Given the description of an element on the screen output the (x, y) to click on. 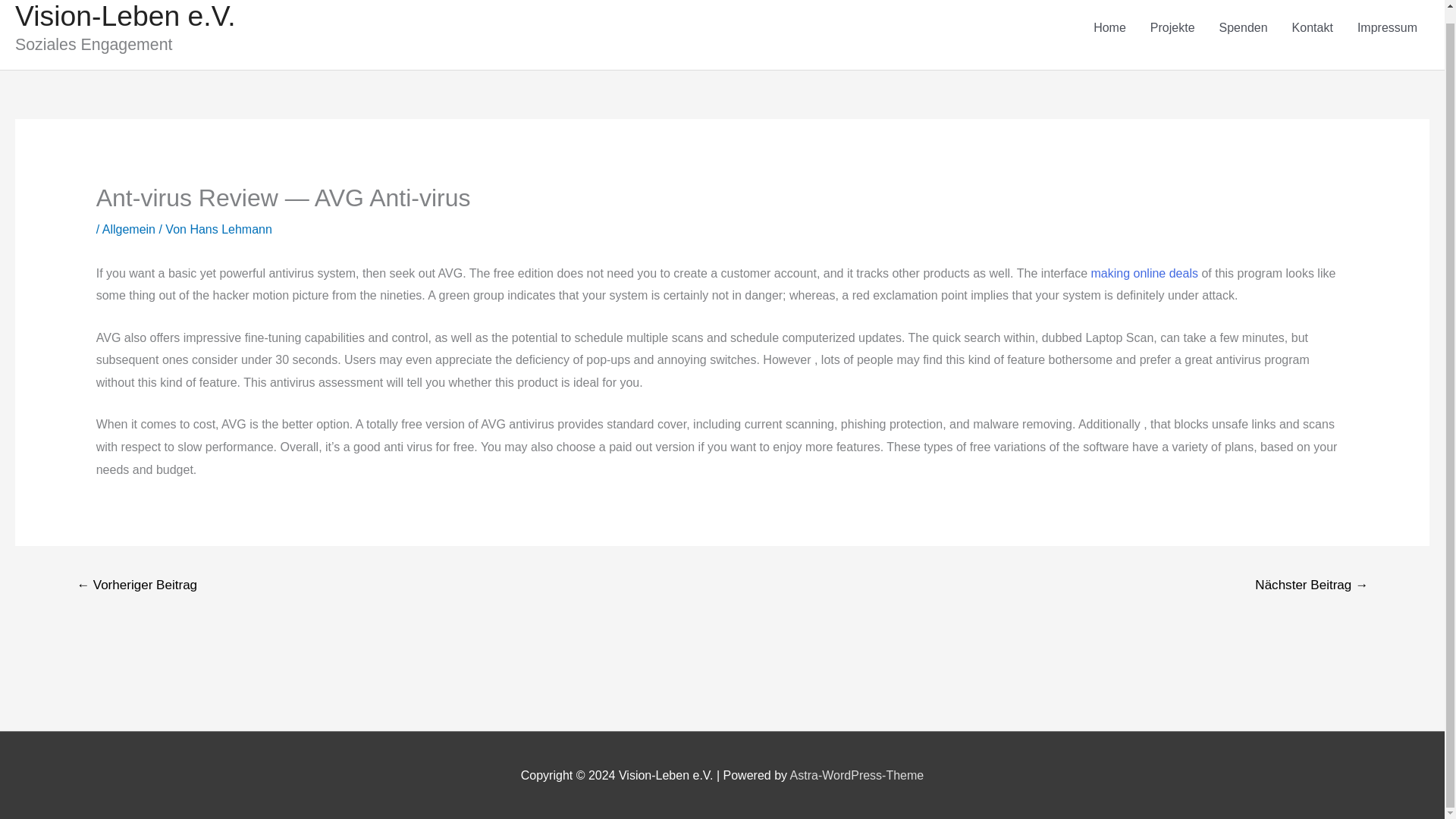
Kontakt (1312, 28)
Vision-Leben e.V. (124, 15)
Allgemein (128, 228)
Impressum (1387, 28)
Home (1109, 28)
Projekte (1172, 28)
Astra-WordPress-Theme (857, 774)
making online deals (1144, 273)
Hans Lehmann (230, 228)
Spenden (1243, 28)
